Given the description of an element on the screen output the (x, y) to click on. 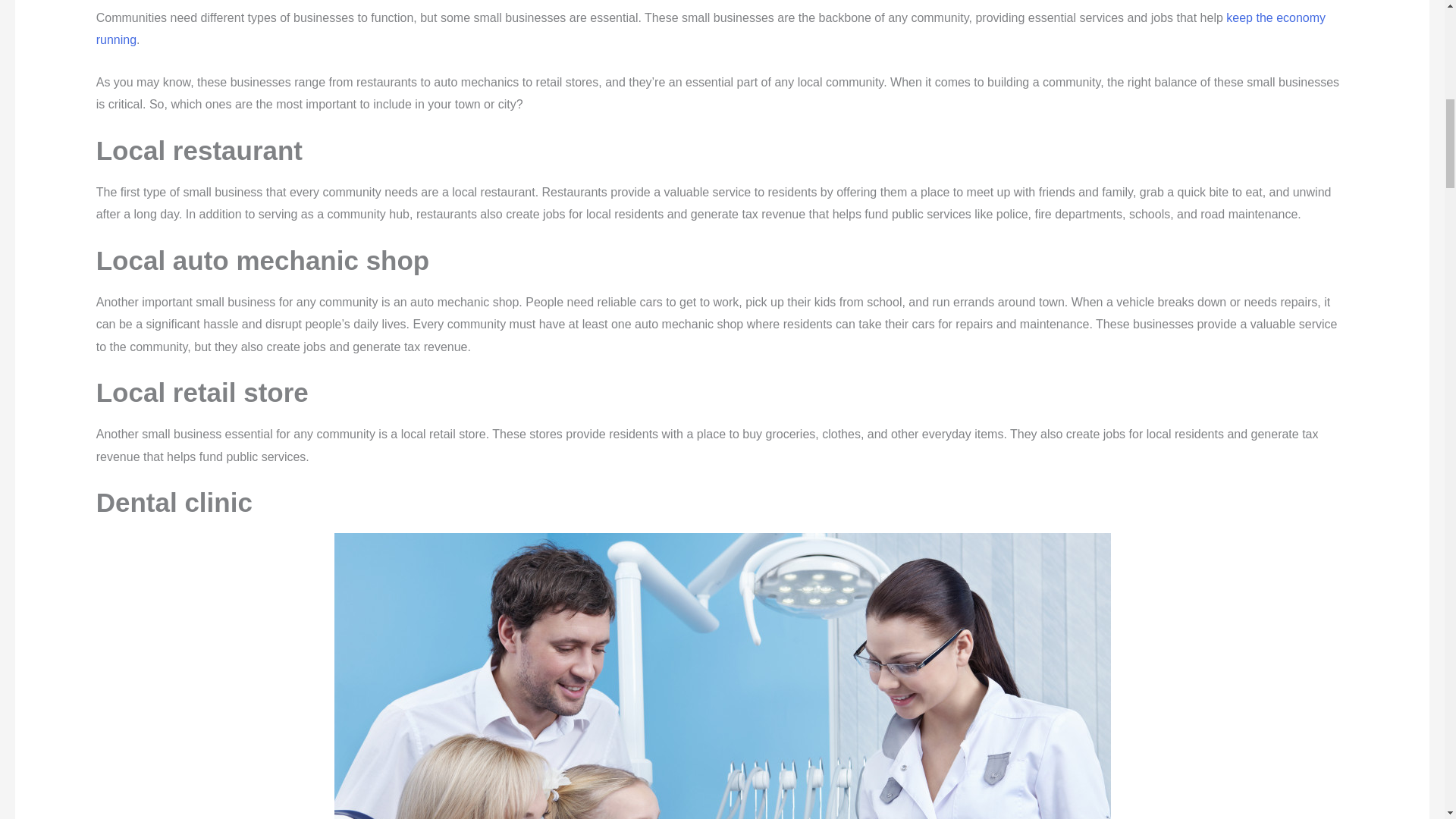
keep the economy running (710, 28)
